Given the description of an element on the screen output the (x, y) to click on. 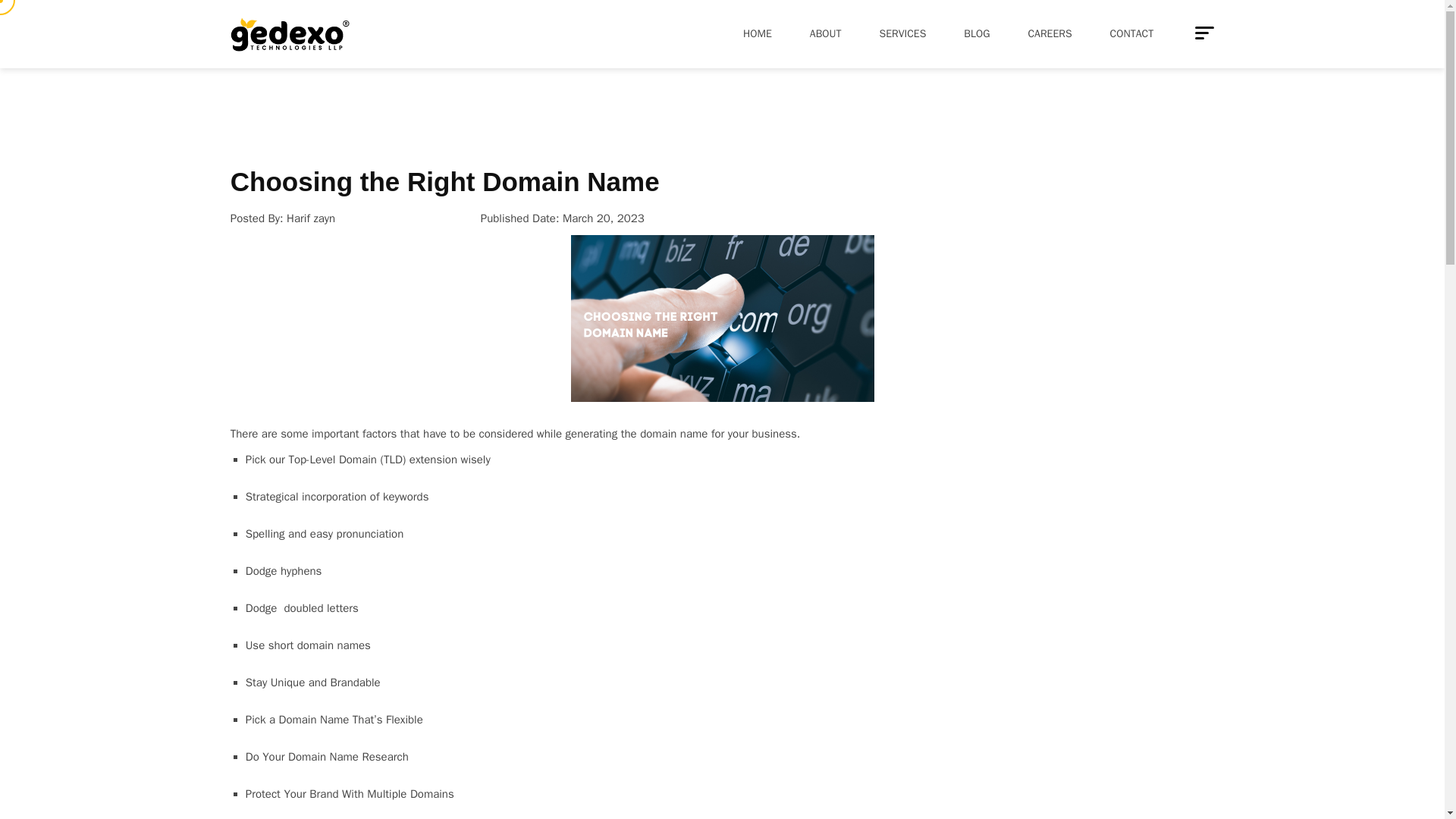
HOME (756, 33)
CAREERS (1049, 33)
BLOG (976, 33)
CONTACT (1131, 33)
ABOUT (825, 33)
SERVICES (902, 33)
